Given the description of an element on the screen output the (x, y) to click on. 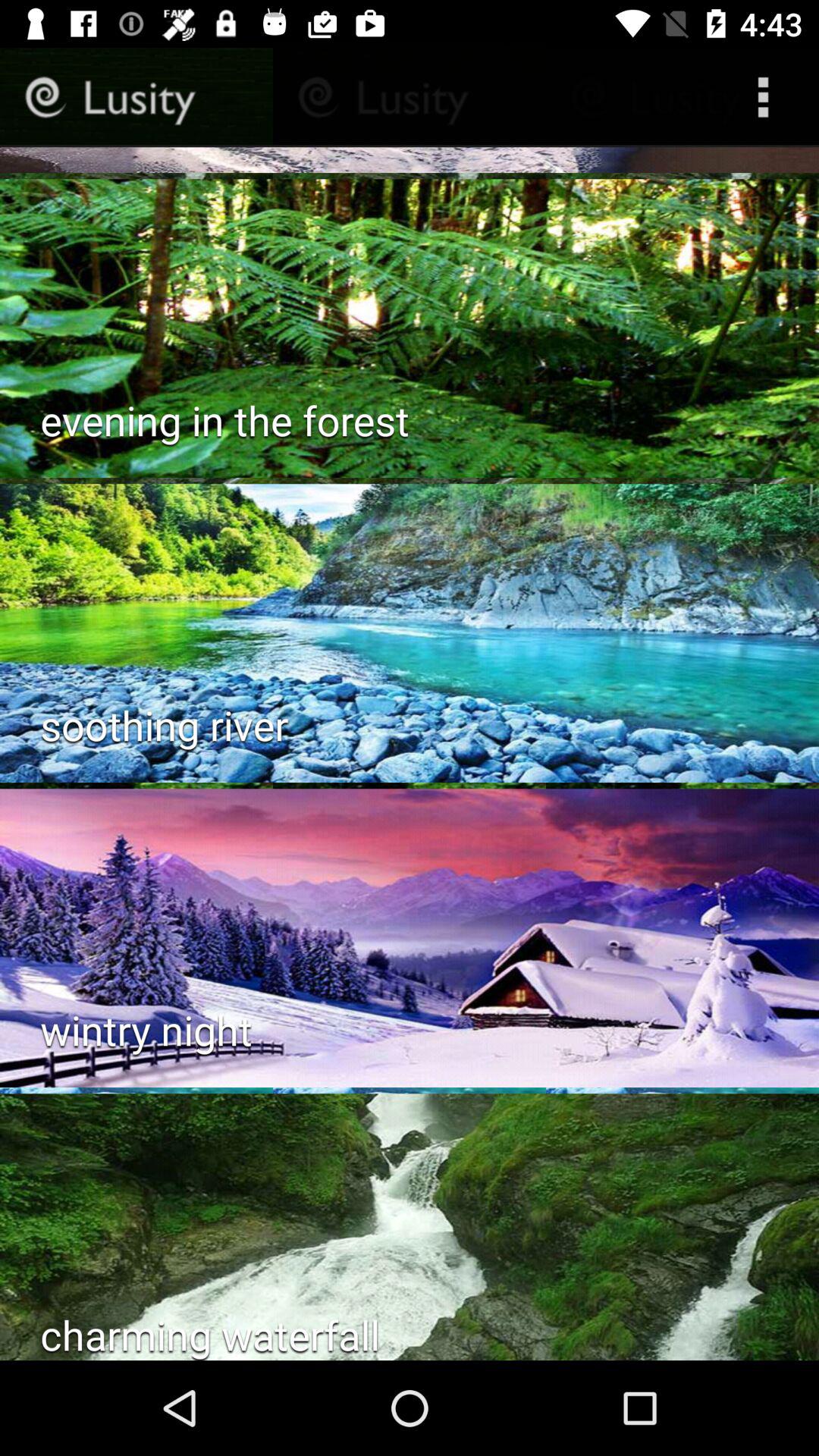
more option (767, 97)
